Given the description of an element on the screen output the (x, y) to click on. 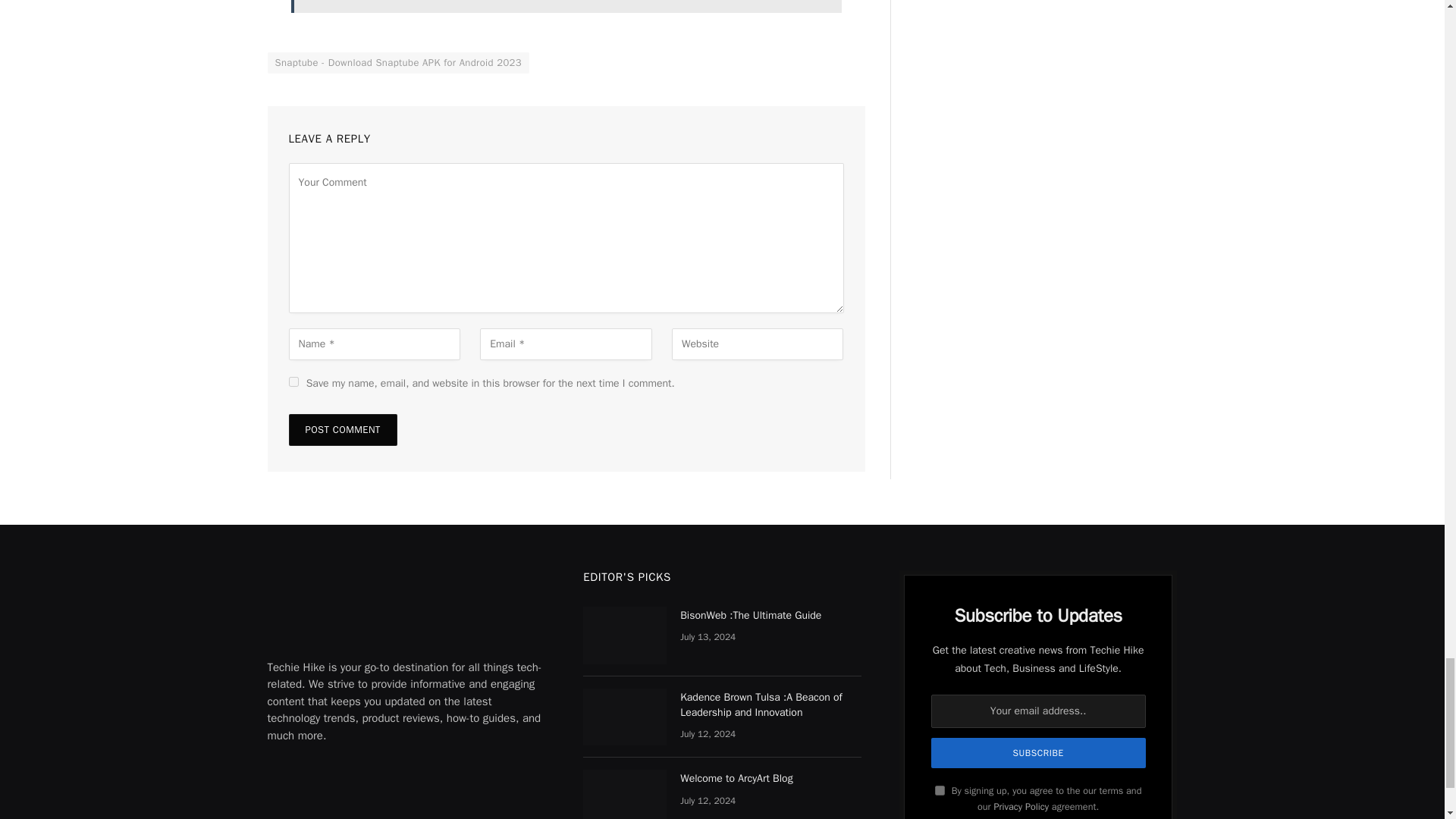
Post Comment (342, 429)
Snaptube - Download Snaptube APK for Android 2023 (397, 62)
BisonWeb :The Ultimate Guide (624, 635)
Post Comment (342, 429)
yes (293, 381)
Subscribe (1038, 752)
on (939, 790)
